Given the description of an element on the screen output the (x, y) to click on. 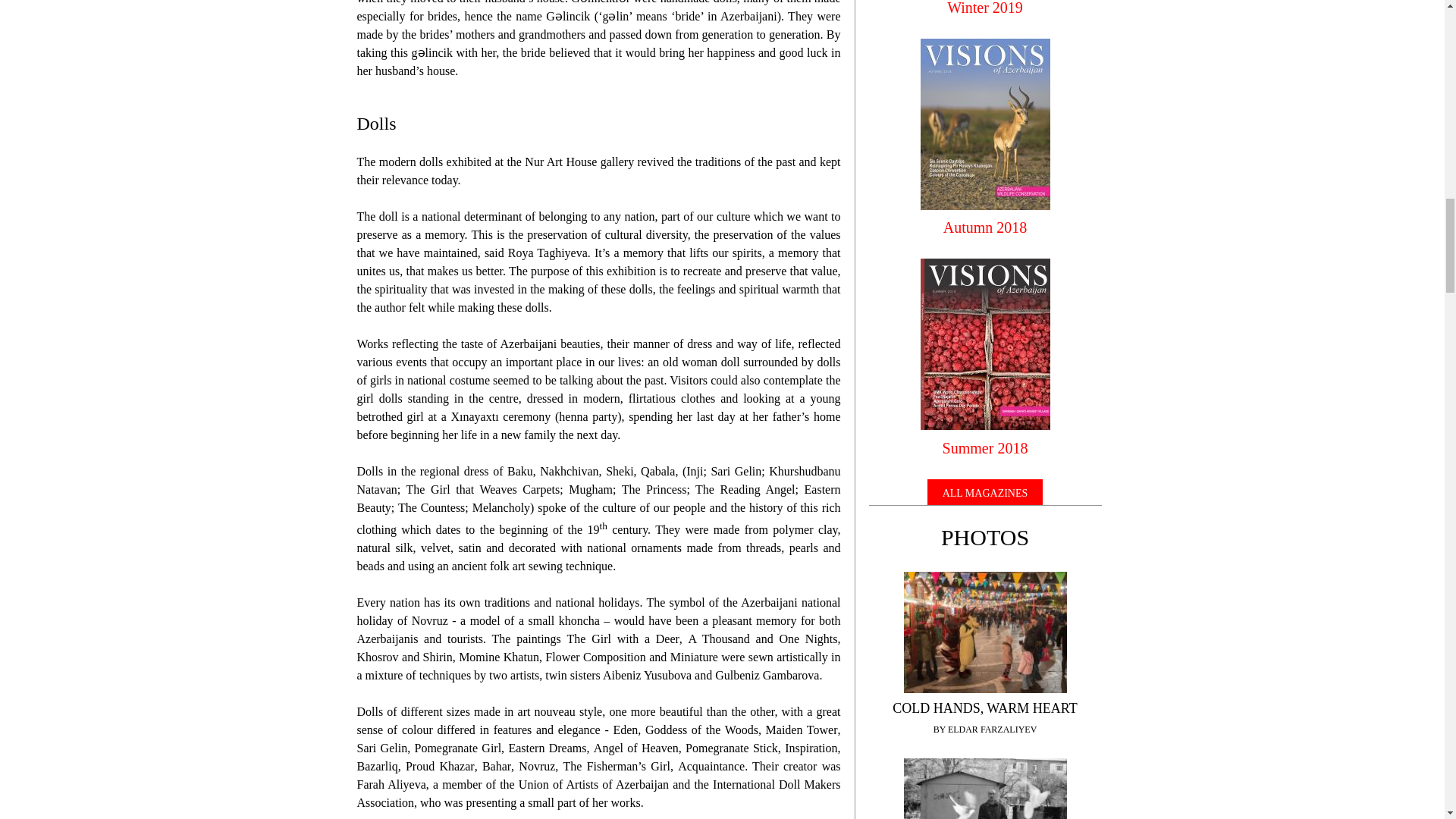
Winter 2019 (984, 8)
